Given the description of an element on the screen output the (x, y) to click on. 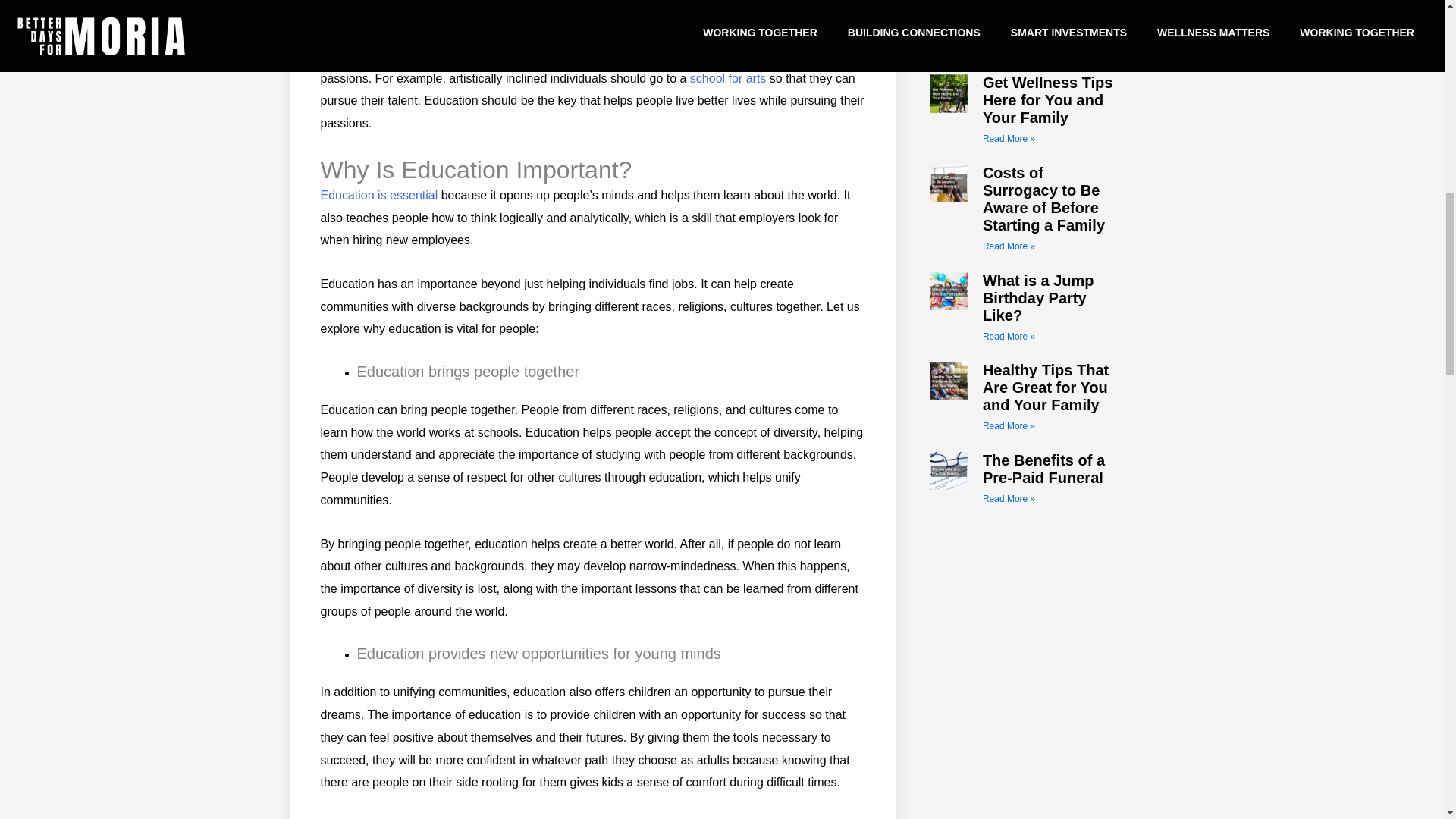
Education is essential (379, 195)
school for arts (727, 78)
